Given the description of an element on the screen output the (x, y) to click on. 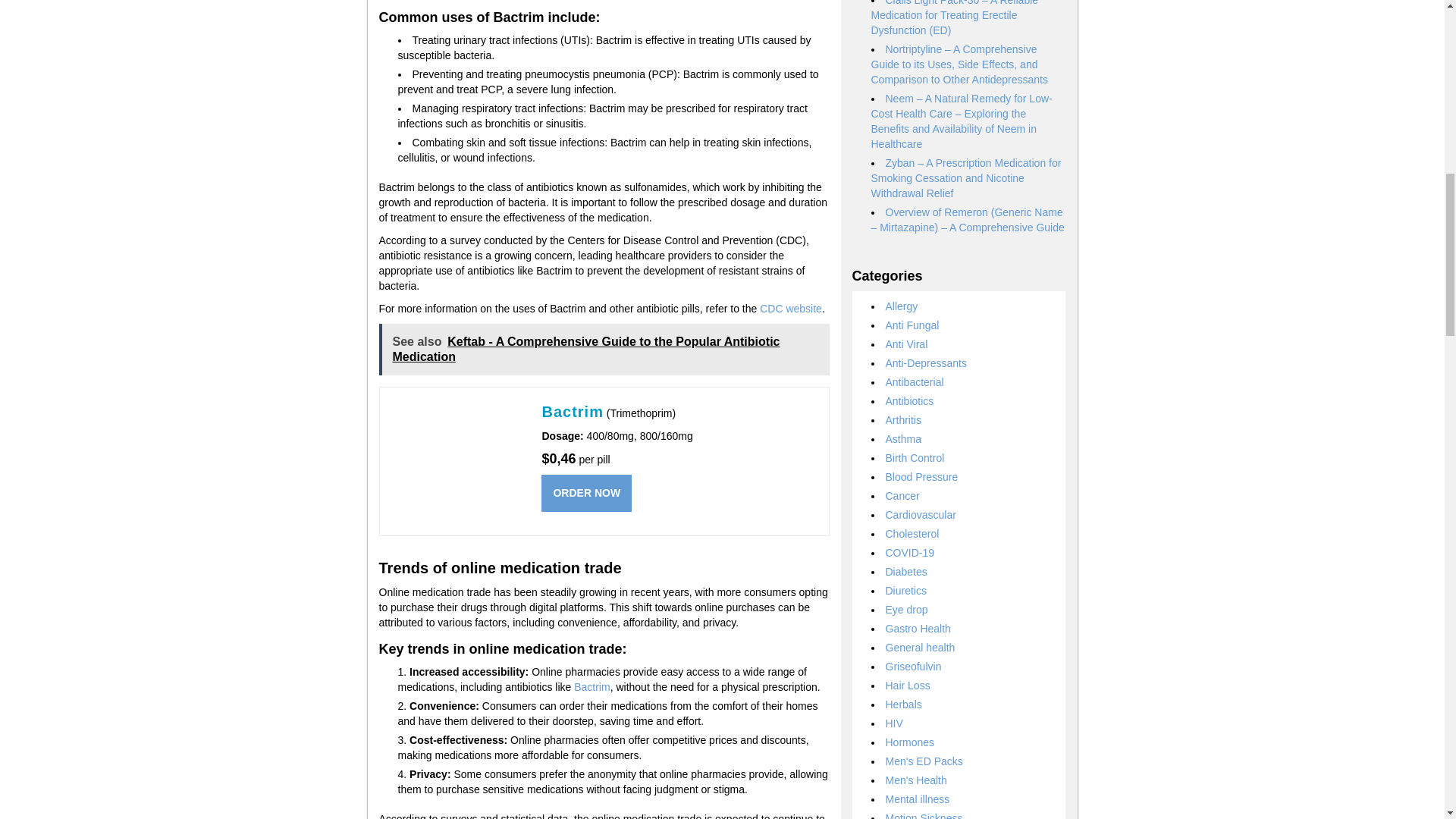
Blood Pressure (921, 476)
Cancer (902, 495)
Cardiovascular (920, 514)
Antibacterial (914, 381)
CDC website (791, 308)
COVID-19 (909, 552)
Antibiotics (909, 400)
Anti Fungal (912, 325)
Anti-Depressants (925, 363)
Allergy (901, 306)
ORDER NOW (586, 493)
Anti Viral (906, 344)
Bactrim (591, 686)
Birth Control (914, 458)
